Given the description of an element on the screen output the (x, y) to click on. 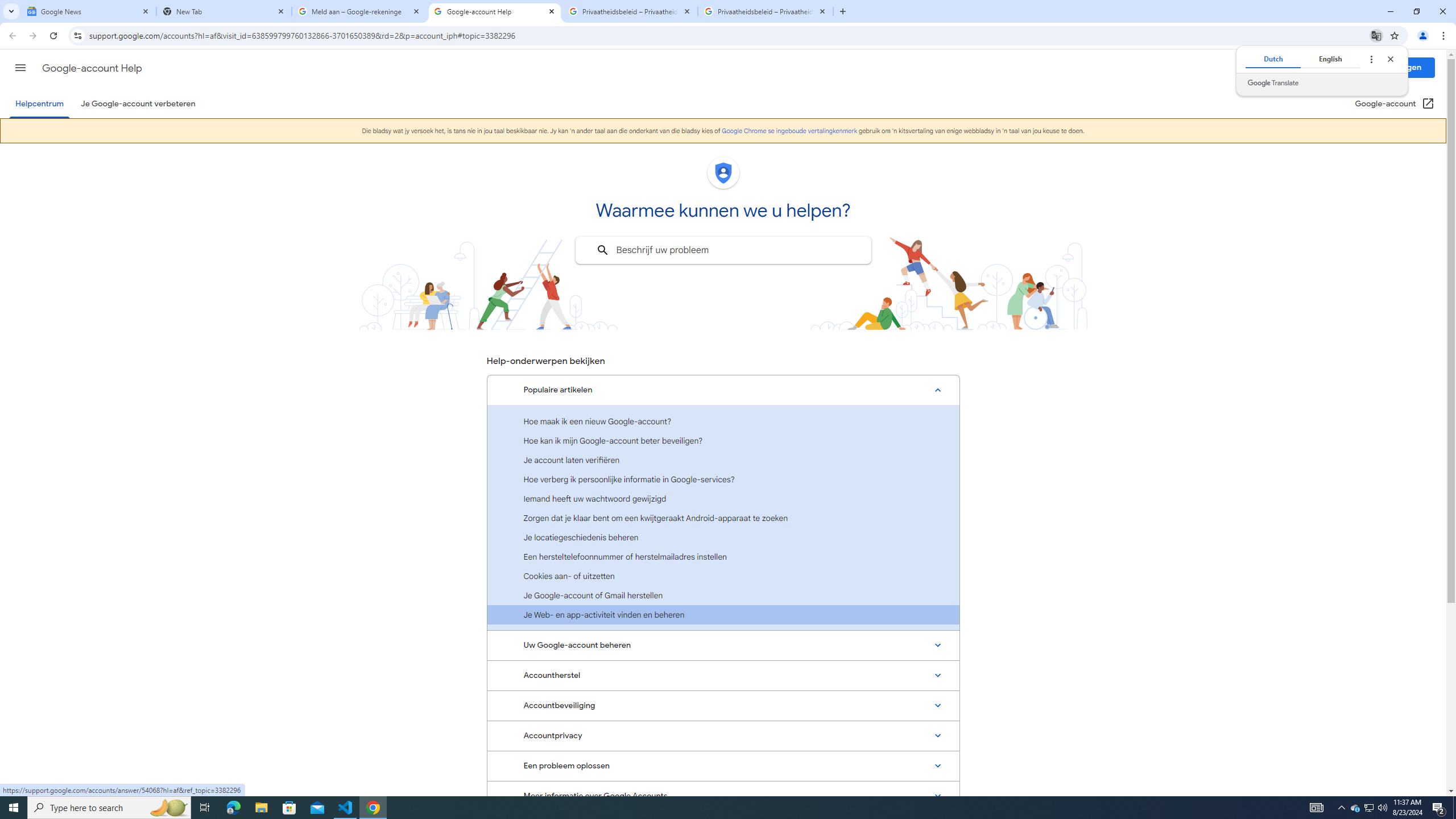
Populaire artikelen, Uitgevouwen lijst met 11 items (722, 389)
Google-account (Openen in een nieuw venster) (1394, 103)
Accountprivacy (722, 736)
Accountherstel (722, 675)
Je Google-account verbeteren (138, 103)
Cookies aan- of uitzetten (722, 575)
Google-apps (1355, 67)
Google News (88, 11)
Hoe kan ik mijn Google-account beter beveiligen? (722, 440)
Helpcentrum (38, 103)
